Given the description of an element on the screen output the (x, y) to click on. 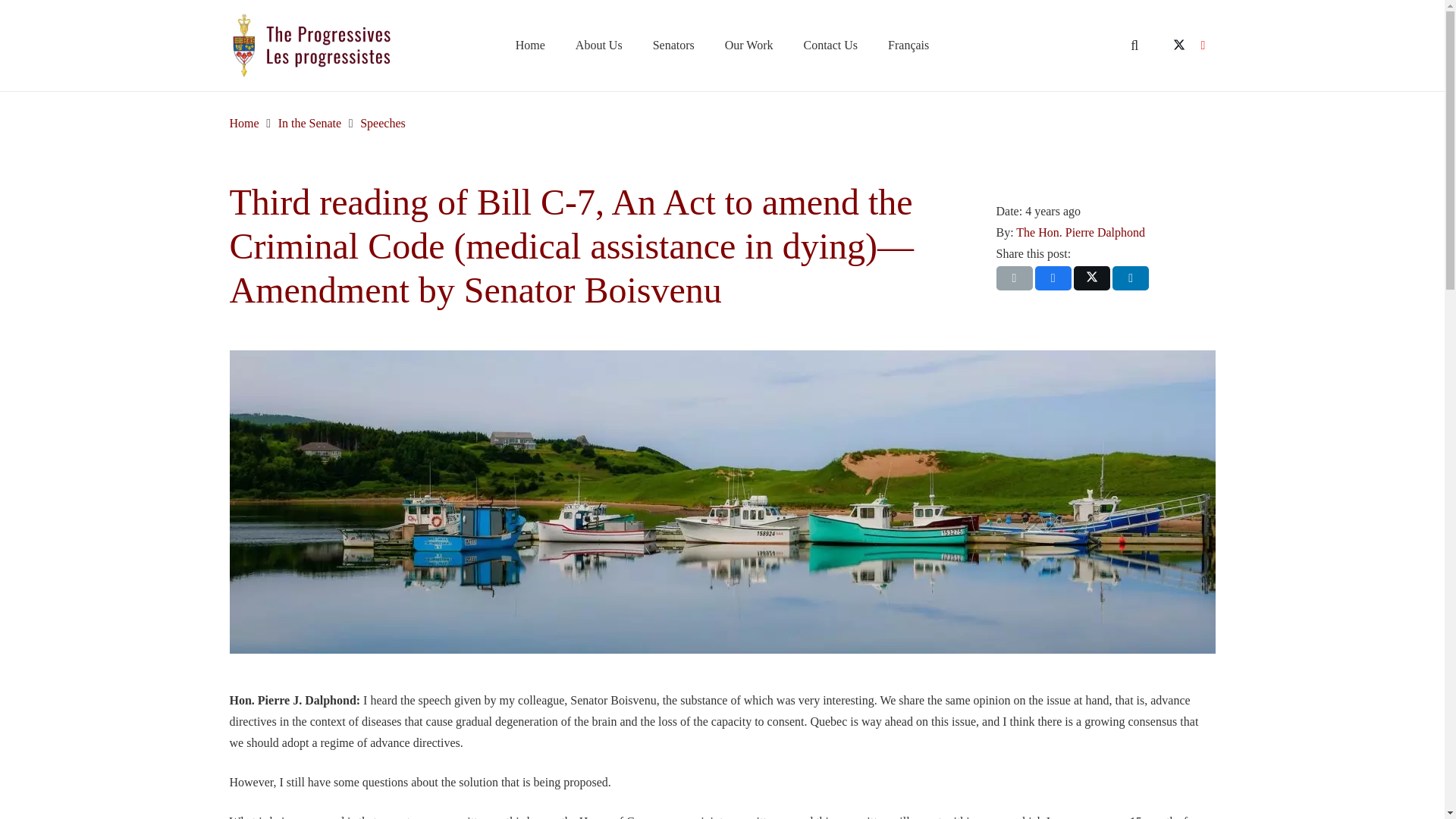
Speeches (382, 123)
Our Work (749, 45)
About Us (598, 45)
Senators (673, 45)
Share this (1130, 278)
Home (243, 123)
Email this (1013, 278)
The Hon. Pierre Dalphond (1080, 232)
Home (530, 45)
Tweet this (1091, 278)
